Given the description of an element on the screen output the (x, y) to click on. 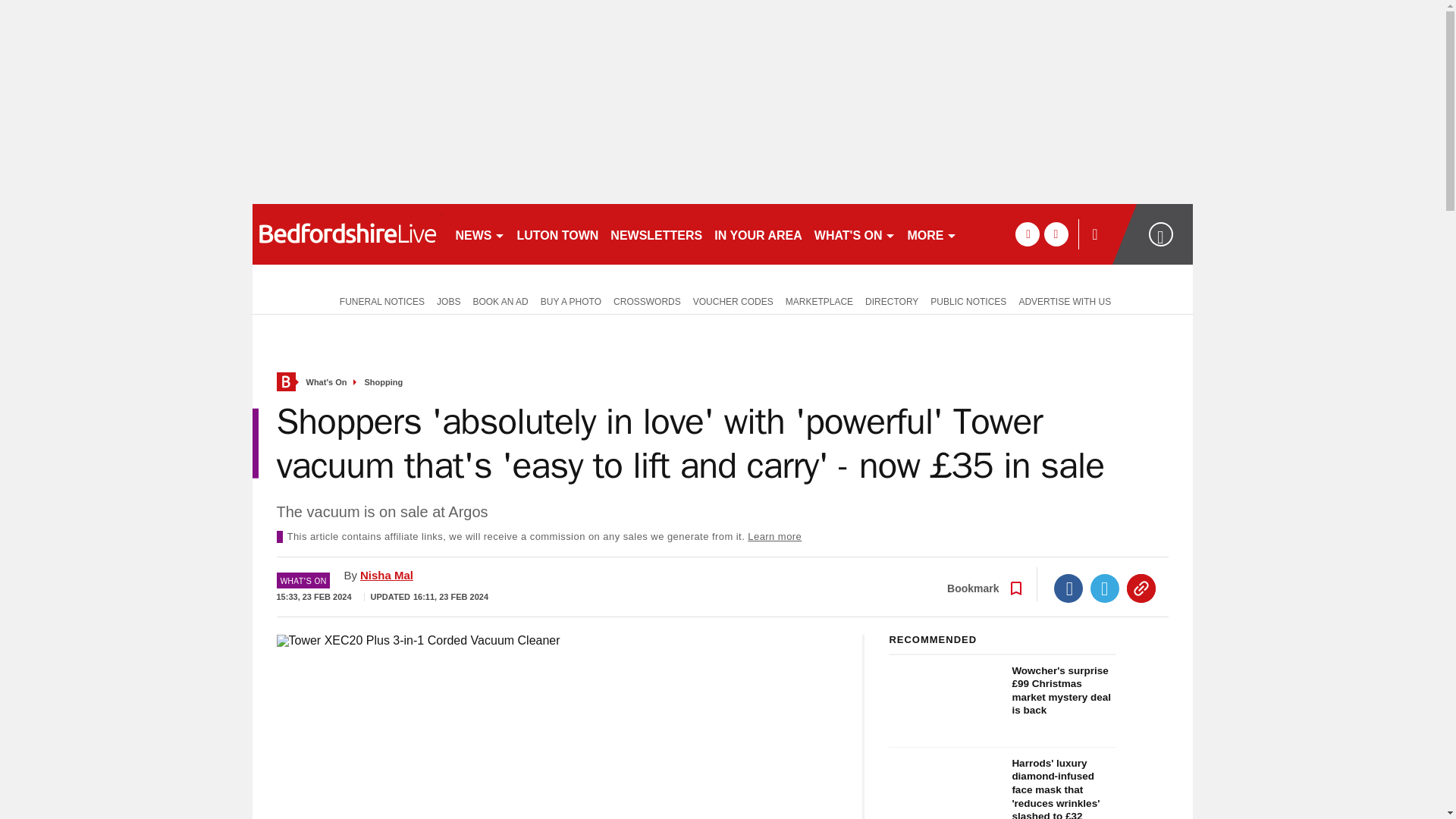
BOOK AN AD (499, 300)
VOUCHER CODES (732, 300)
ADVERTISE WITH US (1063, 300)
WHAT'S ON (854, 233)
facebook (1026, 233)
Facebook (1068, 588)
Twitter (1104, 588)
What's On (326, 382)
Shopping (383, 382)
NEWS (479, 233)
